Given the description of an element on the screen output the (x, y) to click on. 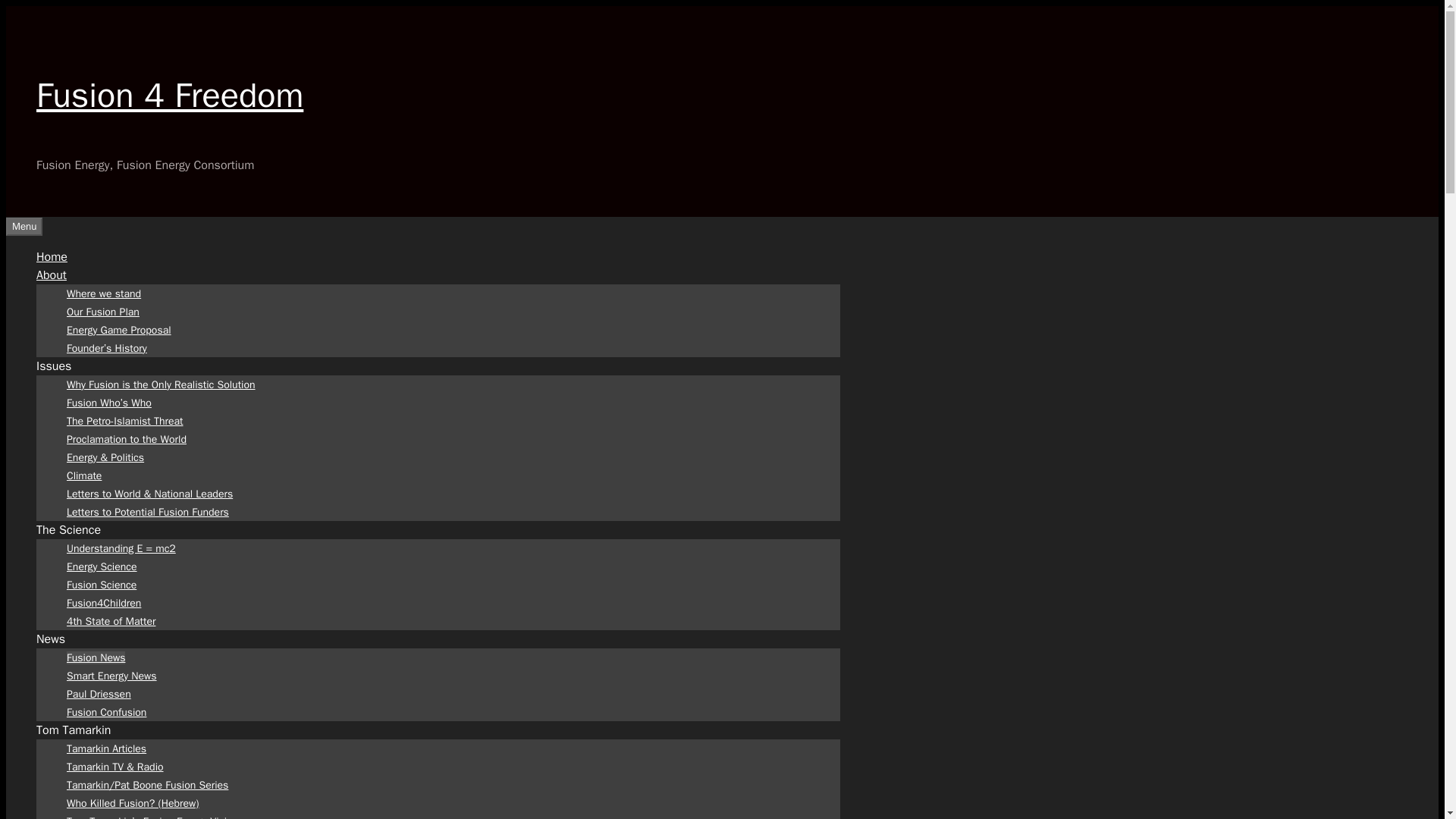
Home (51, 255)
Climate (83, 474)
About (51, 273)
Where we stand (103, 292)
Our Fusion Plan (102, 310)
About (51, 273)
Why Fusion is the Only Realistic Solution (161, 383)
The Petro-Islamist Threat (124, 420)
Paul Driessen (98, 693)
Letters to Potential Fusion Funders (147, 511)
Issues (53, 365)
Proclamation to the World (126, 438)
News (50, 638)
Fusion News (95, 656)
Tamarkin Articles (106, 748)
